Given the description of an element on the screen output the (x, y) to click on. 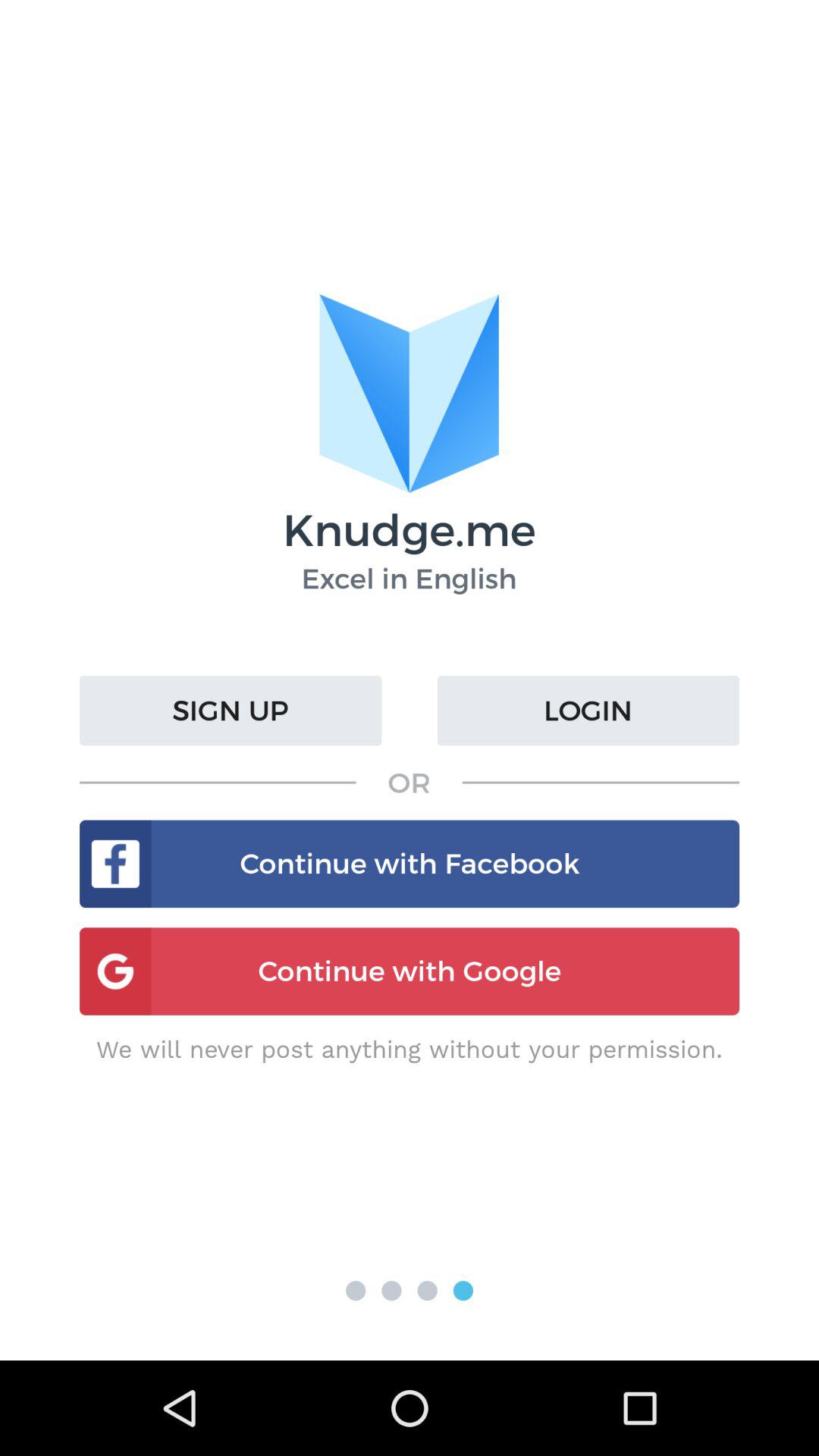
swipe to the sign up (230, 710)
